Given the description of an element on the screen output the (x, y) to click on. 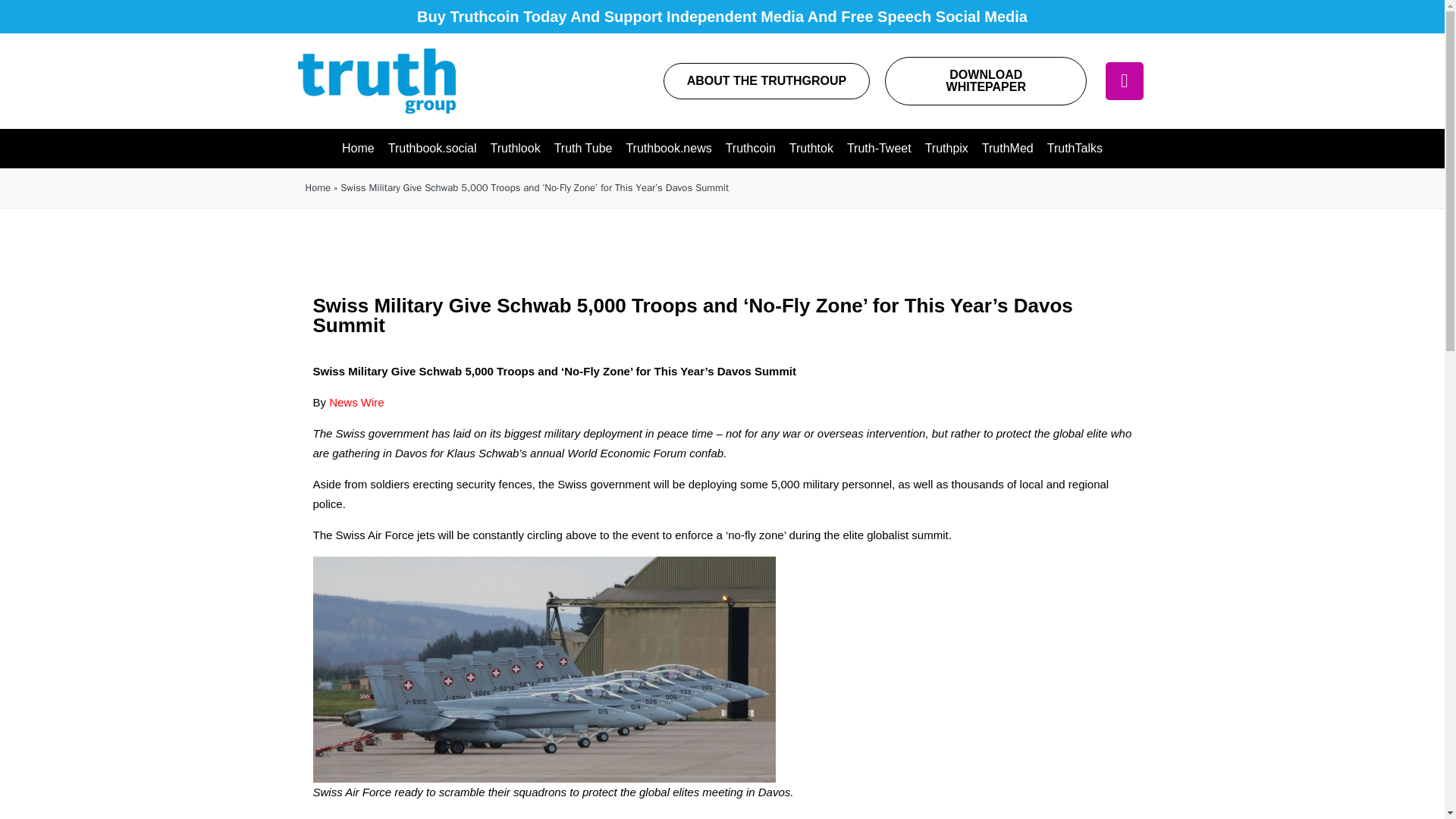
Home (357, 148)
Truthpix (946, 148)
Truthbook.social (432, 148)
Truthbook.news (667, 148)
Truth-Tweet (879, 148)
Truthlook (515, 148)
Truth Tube (583, 148)
Truthcoin (751, 148)
ABOUT THE TRUTHGROUP (766, 81)
